Given the description of an element on the screen output the (x, y) to click on. 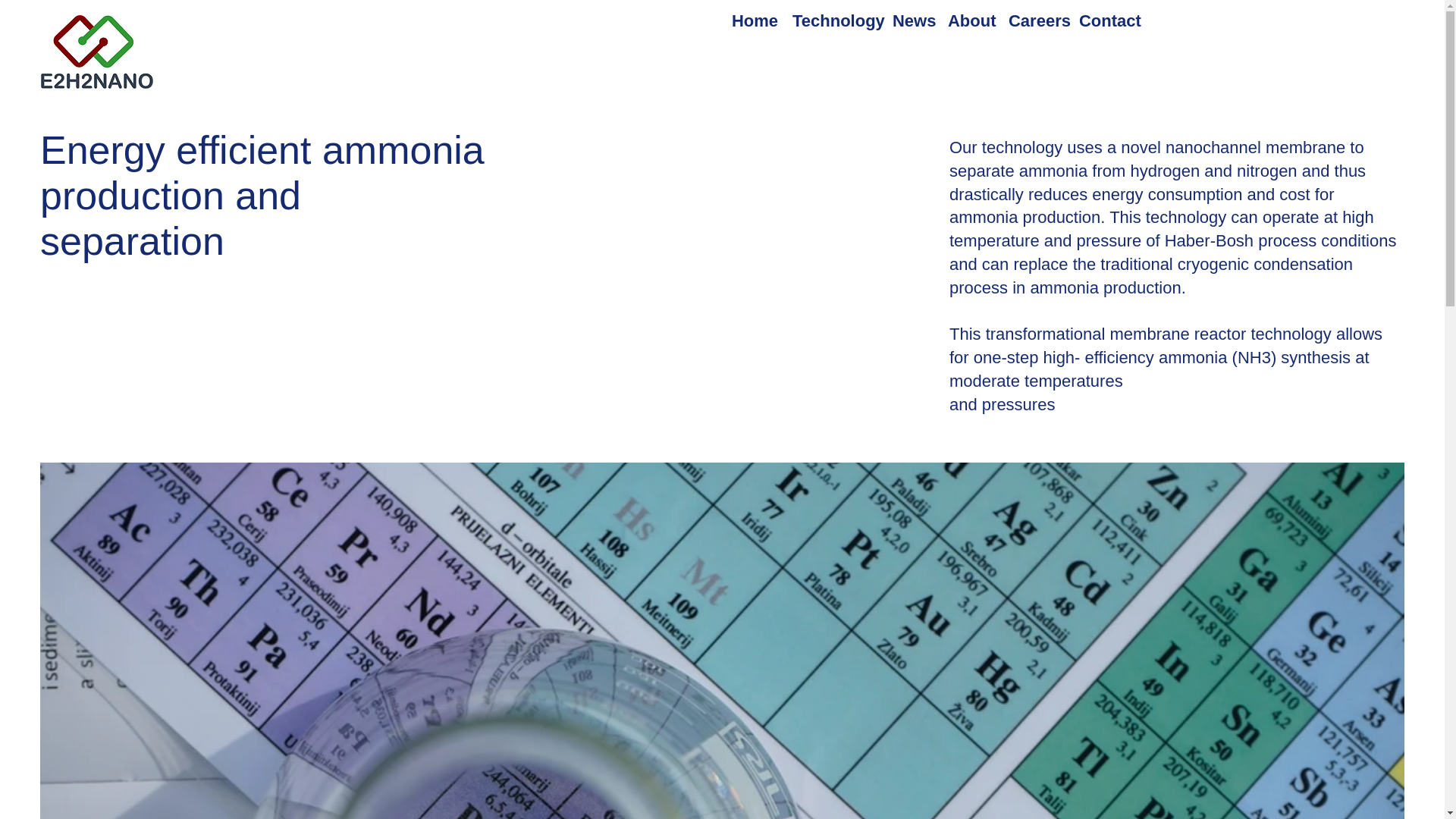
Technology (834, 20)
Home (753, 20)
About (970, 20)
News (912, 20)
Contact (1107, 20)
Careers (1036, 20)
